Given the description of an element on the screen output the (x, y) to click on. 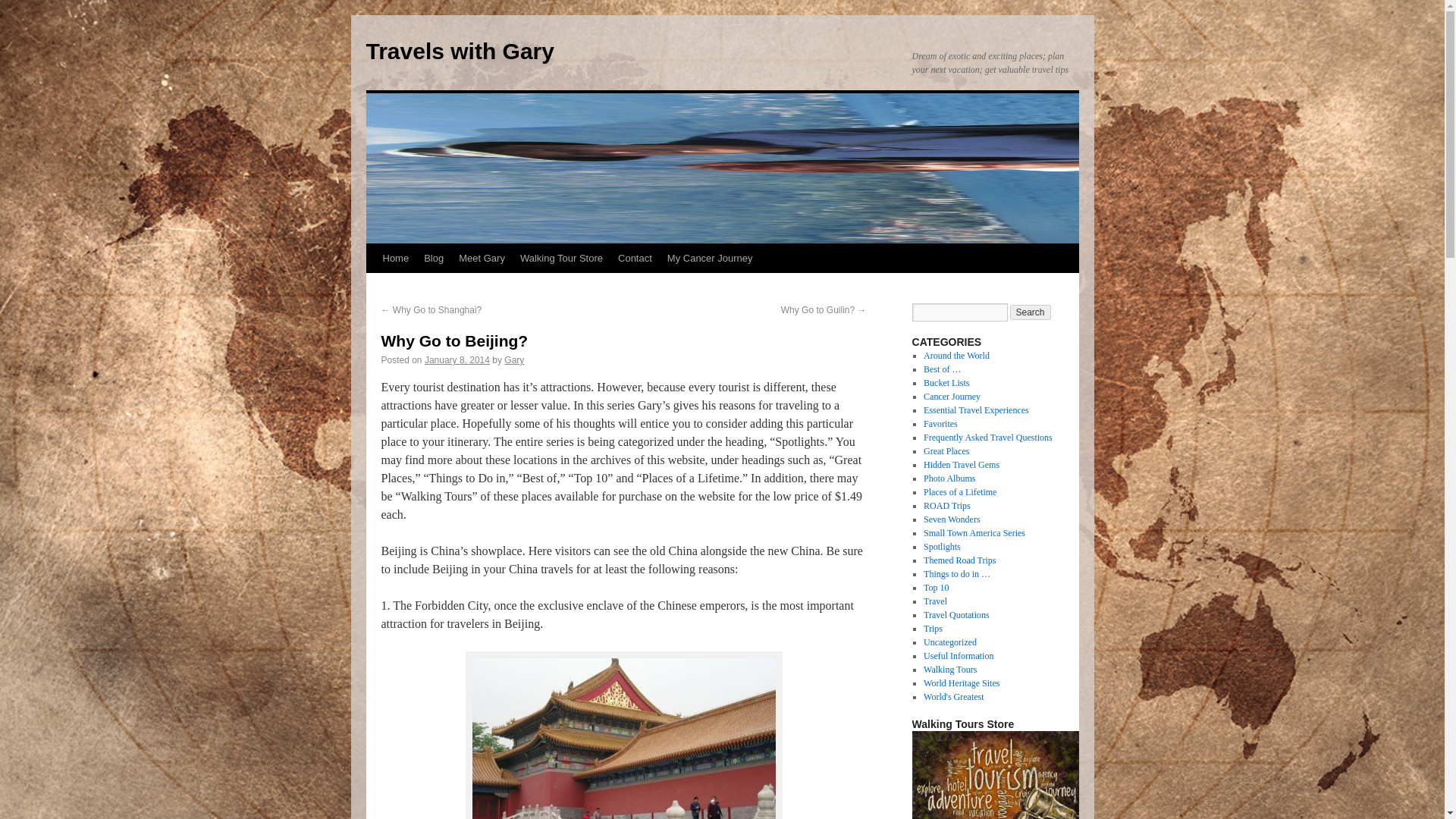
Places of a Lifetime (959, 491)
Travels with Gary (459, 50)
Themed Road Trips (959, 560)
Search (1030, 312)
Meet Gary (481, 258)
Frequently Asked Travel Questions (987, 437)
ROAD Trips (947, 505)
January 8, 2014 (457, 359)
Attractions beyond the typical (960, 464)
Walking Tour Store (561, 258)
